Given the description of an element on the screen output the (x, y) to click on. 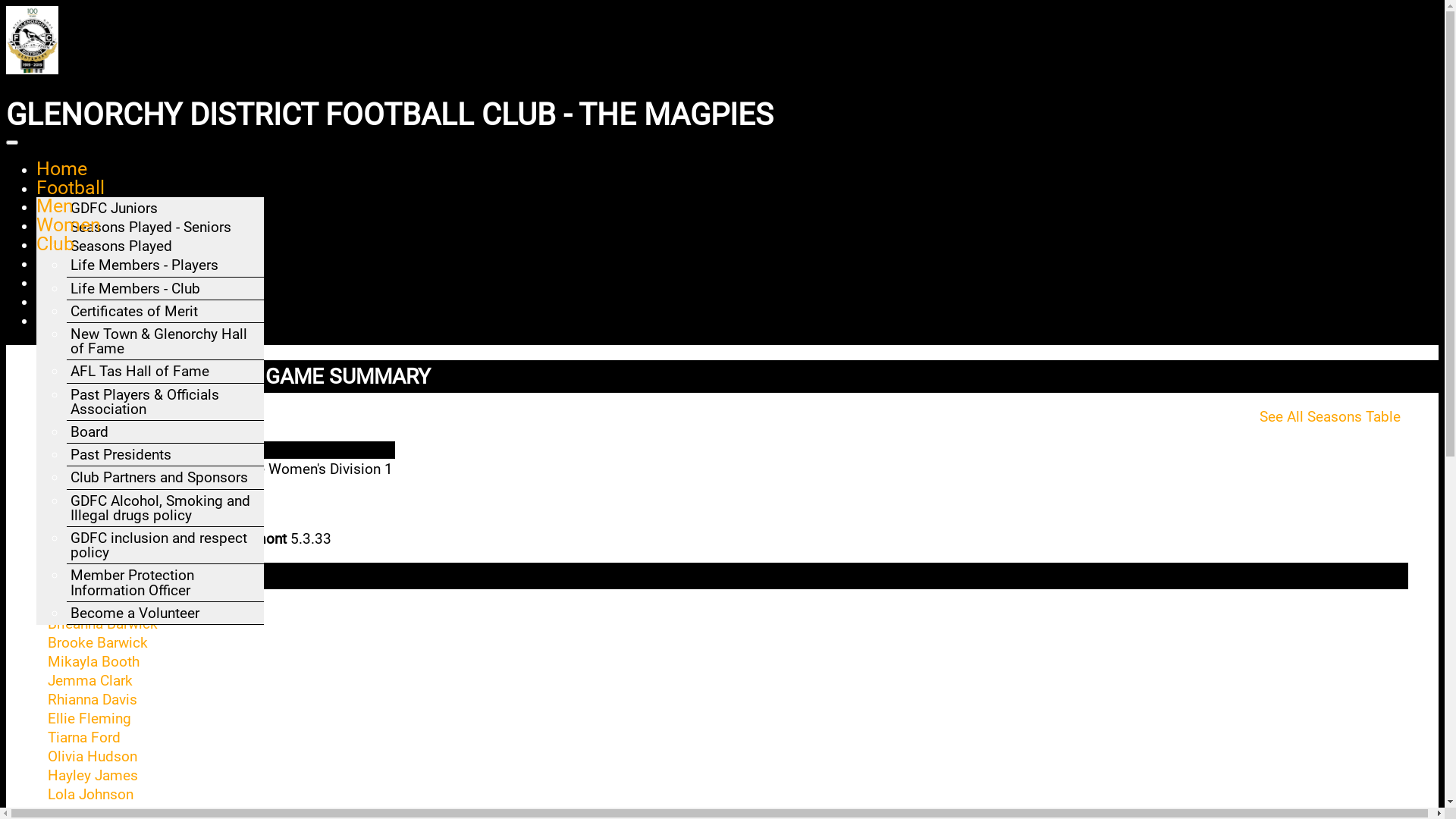
2022 Element type: text (99, 486)
Seasons Played - Seniors Element type: text (150, 226)
Premierships Element type: text (112, 314)
Search Element type: text (65, 281)
Ellie Fleming Element type: text (89, 718)
GDFC inclusion and respect policy Element type: text (158, 545)
AFL Tas Hall of Fame Element type: text (139, 370)
Club Records Element type: text (113, 524)
Best & Fairest Winners - Seniors Element type: text (146, 555)
Become a Volunteer Element type: text (134, 612)
Senior Player Numbers Element type: text (143, 341)
Member Protection Information Officer Element type: text (132, 582)
Captains Element type: text (98, 383)
Seasons Played - Reserves Element type: text (155, 250)
Club Membership Element type: text (110, 319)
Cherie Adams Element type: text (92, 604)
Football Awards Element type: text (122, 269)
Premierships - Seniors Element type: text (142, 410)
Football Awards - Fourths Element type: text (152, 502)
Women Element type: text (68, 224)
Players - All Element type: text (107, 429)
AFL / VFL Players Element type: text (127, 608)
Life Members - Players Element type: text (144, 264)
Football Awards - Thirds Element type: text (148, 479)
Board Element type: text (89, 431)
Past Presidents Element type: text (120, 454)
Football Awards - Seniors Element type: text (152, 433)
Football Awards - Reserves Element type: text (157, 455)
Seasons Played - Thirds Element type: text (146, 273)
Hayley James Element type: text (92, 775)
New Town & Glenorchy Hall of Fame Element type: text (158, 341)
Seniors - Captains Element type: text (127, 364)
Club Partners and Sponsors Element type: text (158, 477)
Mikayla Booth Element type: text (93, 661)
Players - All Element type: text (107, 318)
Tiarna Ford Element type: text (83, 737)
Best & Fairest Winners Element type: text (142, 337)
See All Seasons Table Element type: text (1329, 416)
Seasons Played Element type: text (121, 245)
GDFC Alcohol, Smoking and Illegal drugs policy Element type: text (160, 508)
Home Element type: text (61, 168)
Jemma Clark Element type: text (89, 680)
Life Members - Club Element type: text (135, 288)
Coaches Element type: text (97, 406)
Brooke Barwick Element type: text (97, 642)
Contact Us Element type: text (82, 262)
Men Element type: text (54, 205)
Past Players & Officials Association Element type: text (144, 401)
Football Element type: text (70, 187)
Seniors - Coaches Element type: text (127, 387)
Seasons Played - Fourths Element type: text (151, 295)
Brieanna Barwick Element type: text (102, 623)
Team of the Century Element type: text (134, 585)
Lola Johnson Element type: text (90, 794)
Rhianna Davis Element type: text (92, 699)
Club Element type: text (55, 243)
Club Records Element type: text (113, 292)
Functions Element type: text (77, 300)
Representative Games Element type: text (142, 360)
Certificates of Merit Element type: text (133, 311)
GDFC Juniors Element type: text (113, 207)
Olivia Hudson Element type: text (92, 756)
